Given the description of an element on the screen output the (x, y) to click on. 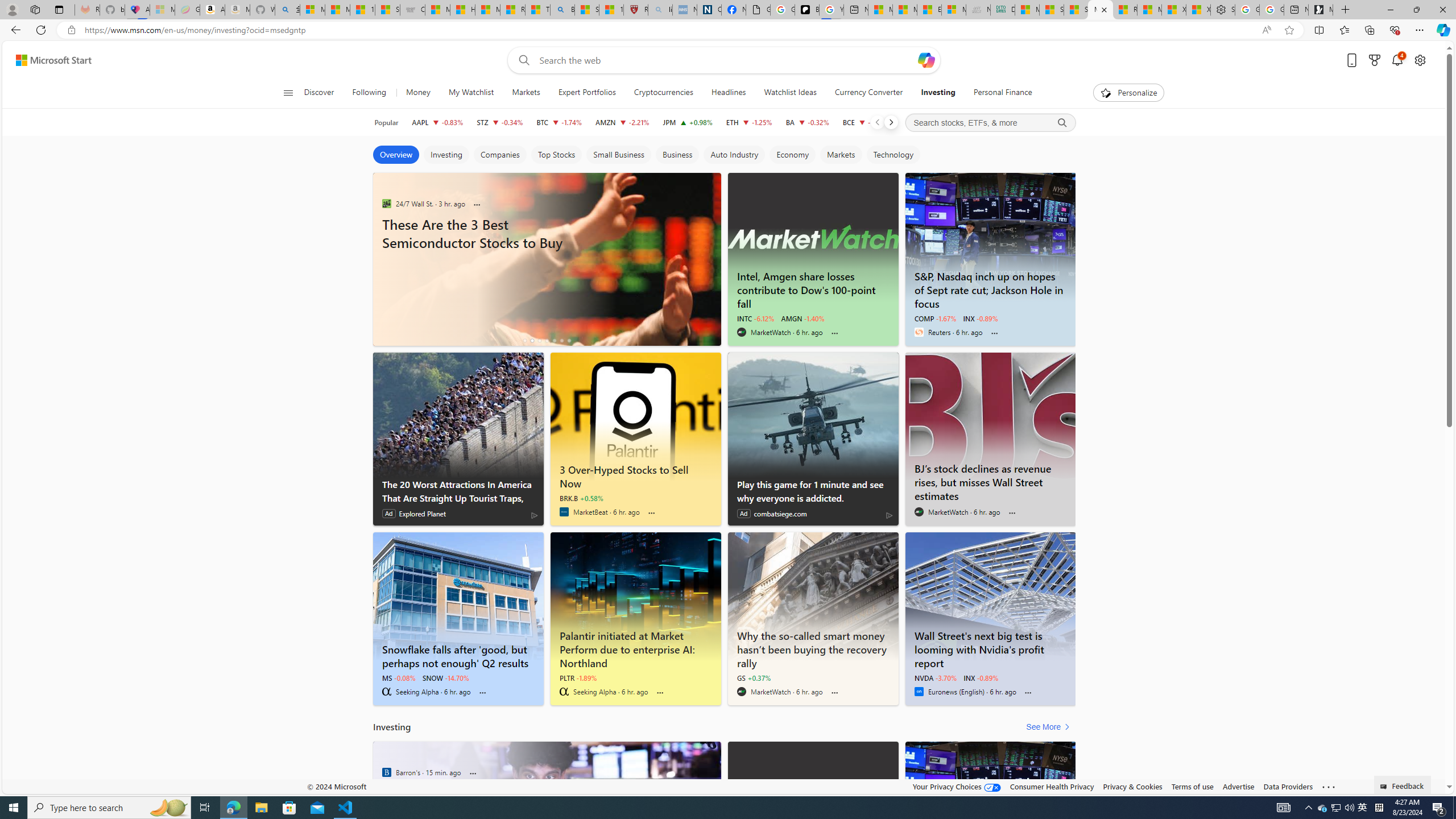
ETH Ethereum decrease 2,611.71 -32.54 -1.25% (748, 122)
BCE BCE Inc decrease 34.55 -0.07 -0.20% (865, 122)
Class: feedback_link_icon-DS-EntryPoint1-1 (1384, 786)
3 Over-Hyped Stocks to Sell Now - MarketBeat (635, 416)
